Given the description of an element on the screen output the (x, y) to click on. 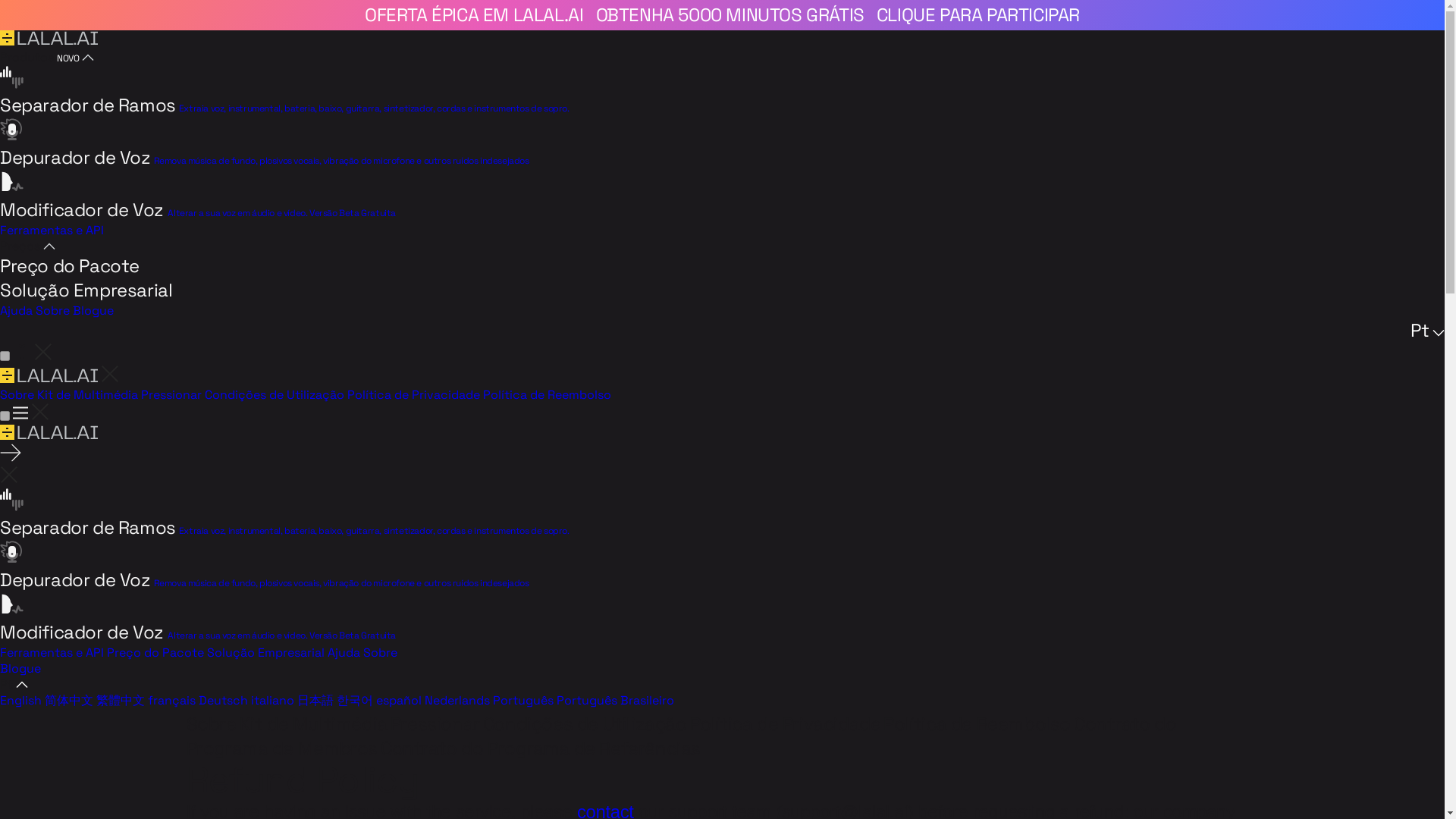
Sobre (379, 652)
Ferramentas e API (51, 229)
Ferramentas e API (51, 652)
on (5, 415)
Ajuda (343, 652)
Ajuda (16, 310)
Blogue (92, 310)
Pressionar (171, 394)
on (5, 356)
Sobre (51, 310)
Sobre (16, 394)
Blogue (20, 668)
